Given the description of an element on the screen output the (x, y) to click on. 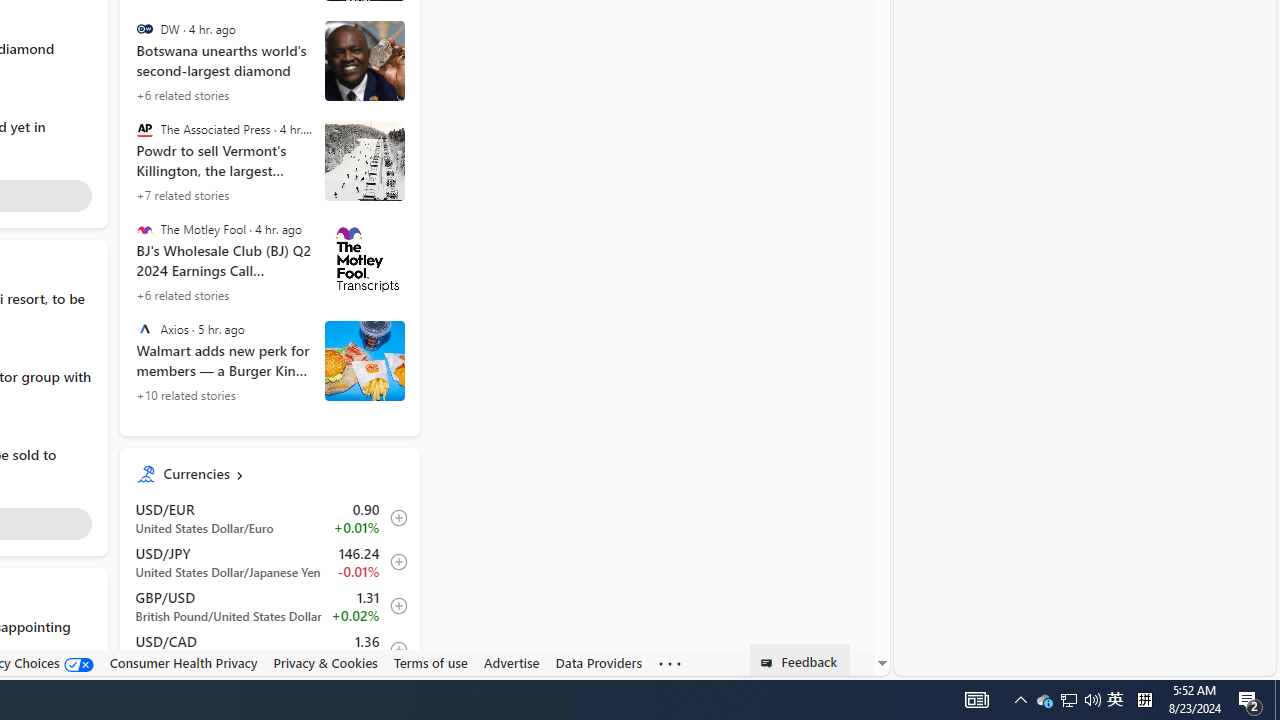
Data Providers (598, 662)
Botswana unearths world's second-largest diamond - DW (269, 61)
Privacy & Cookies (324, 662)
Data Providers (598, 663)
Advertise (511, 662)
Class: feedback_link_icon-DS-EntryPoint1-1 (770, 663)
